Given the description of an element on the screen output the (x, y) to click on. 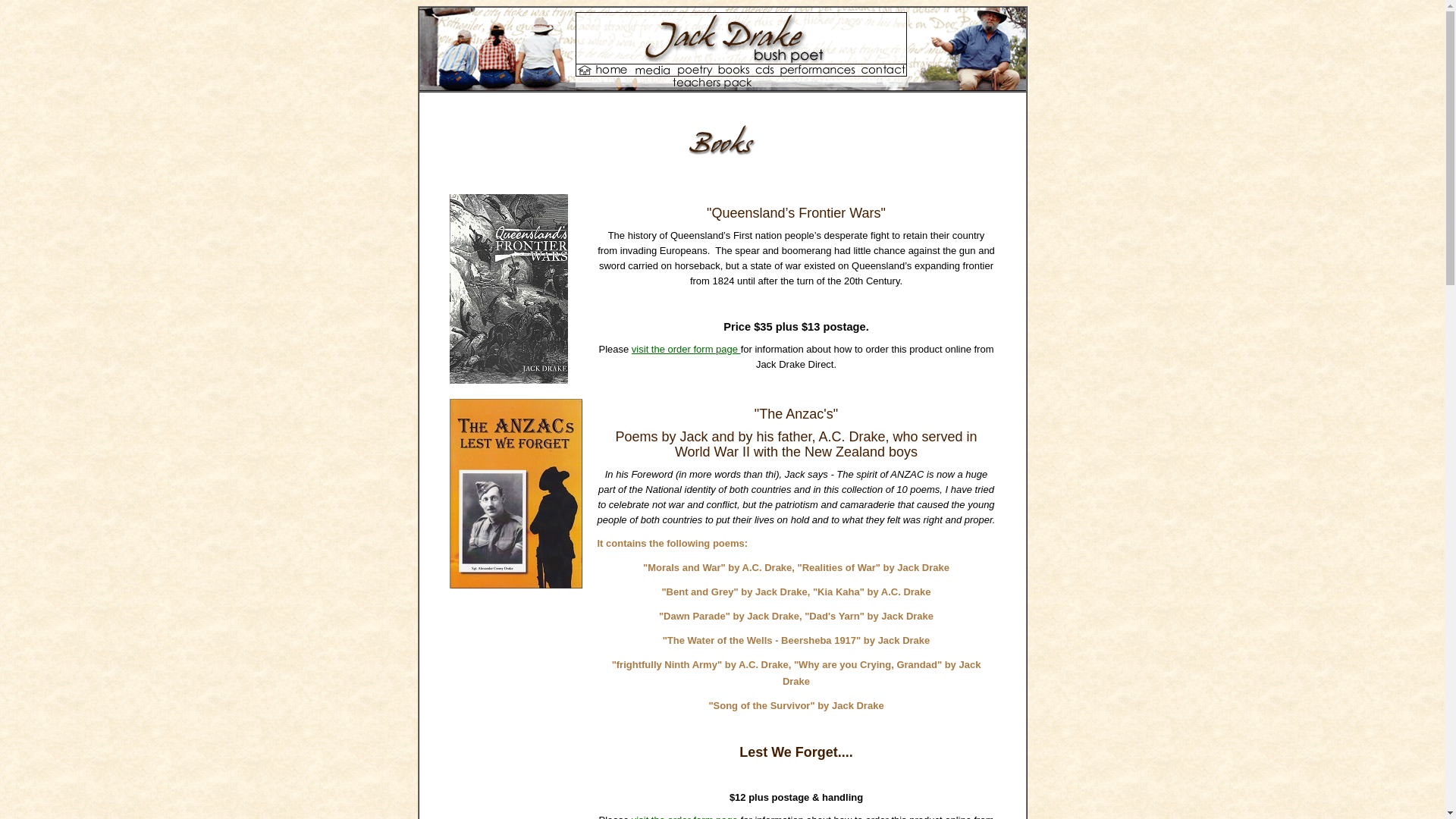
visit the order form page Element type: text (685, 348)
Queenslands Frontier Wars Element type: hover (507, 288)
